Given the description of an element on the screen output the (x, y) to click on. 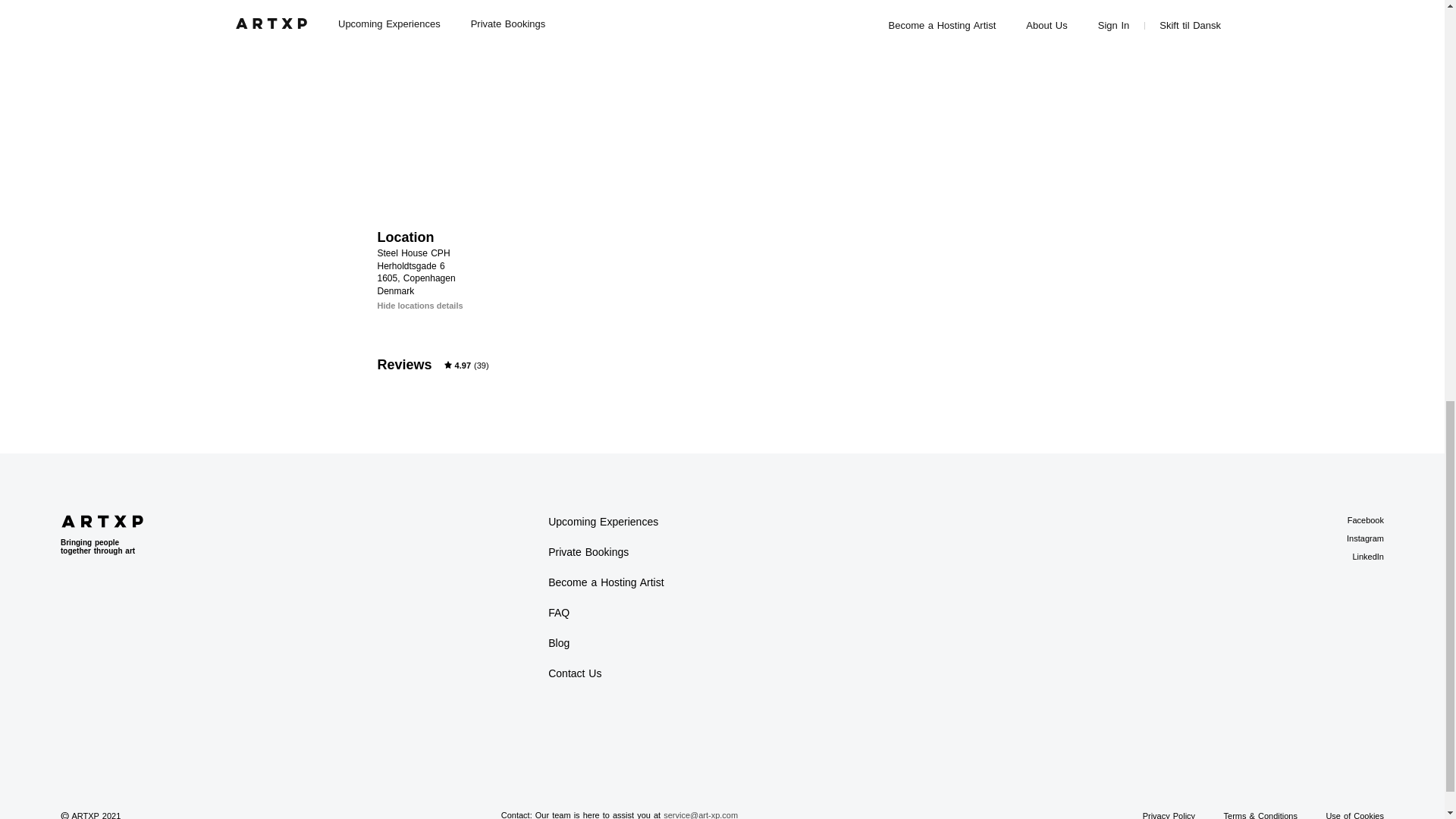
FAQ (558, 612)
Upcoming Experiences (603, 521)
Hide locations details (420, 306)
Private Bookings (588, 551)
Become a Hosting Artist (605, 582)
